Given the description of an element on the screen output the (x, y) to click on. 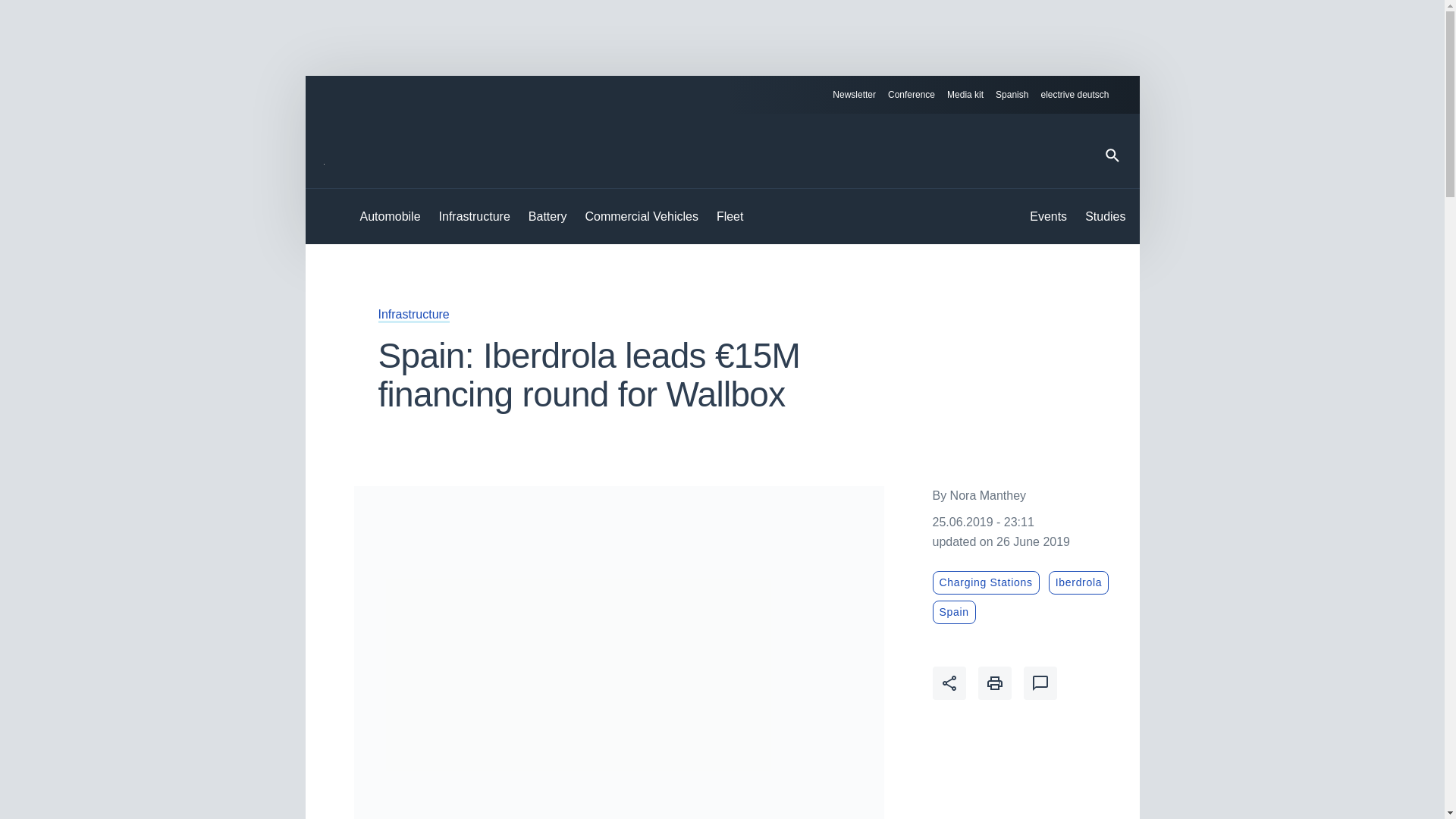
Media kit (965, 95)
Fleet (730, 217)
Iberdrola (1078, 582)
Charging Stations (986, 582)
Drucken (994, 683)
Commercial Vehicles (641, 217)
Studies (1104, 217)
Spain (954, 612)
Conference (911, 95)
Events (1048, 217)
Automobile (389, 217)
Infrastructure (475, 217)
Newsletter (854, 95)
Kommentare (1040, 683)
Battery (547, 217)
